Given the description of an element on the screen output the (x, y) to click on. 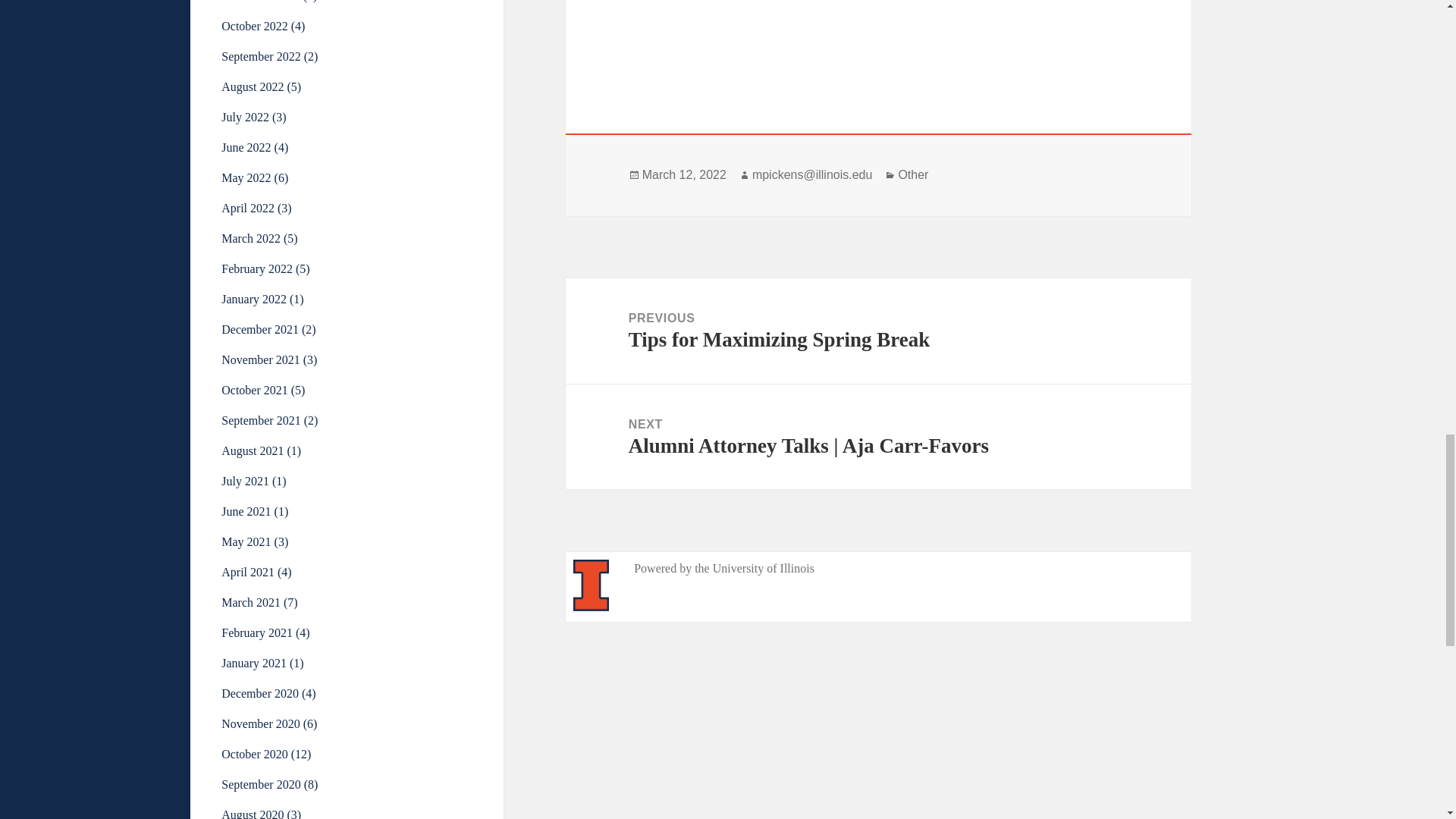
August 2022 (252, 86)
October 2022 (254, 25)
June 2022 (245, 146)
May 2022 (245, 177)
September 2022 (260, 56)
July 2022 (245, 116)
November 2022 (260, 1)
